Given the description of an element on the screen output the (x, y) to click on. 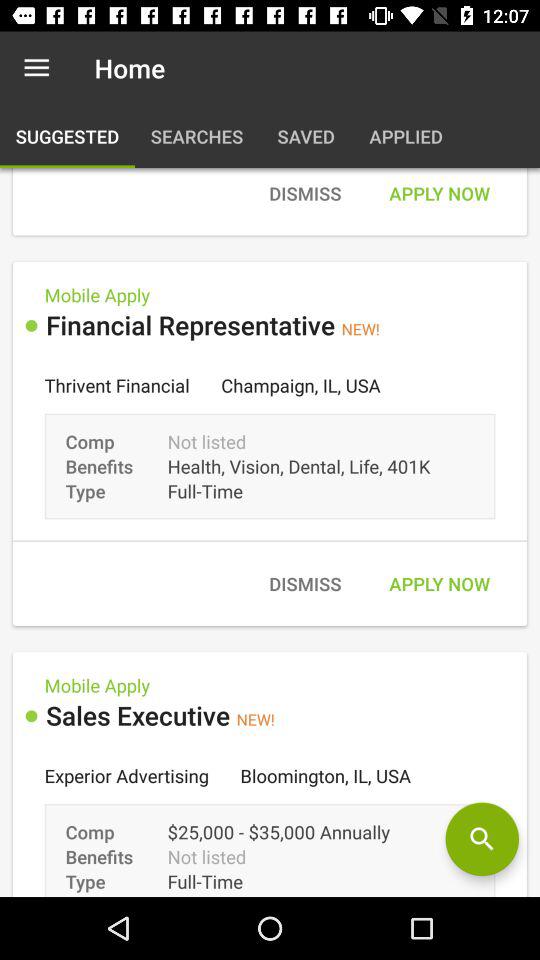
open the item above the suggested icon (36, 68)
